Given the description of an element on the screen output the (x, y) to click on. 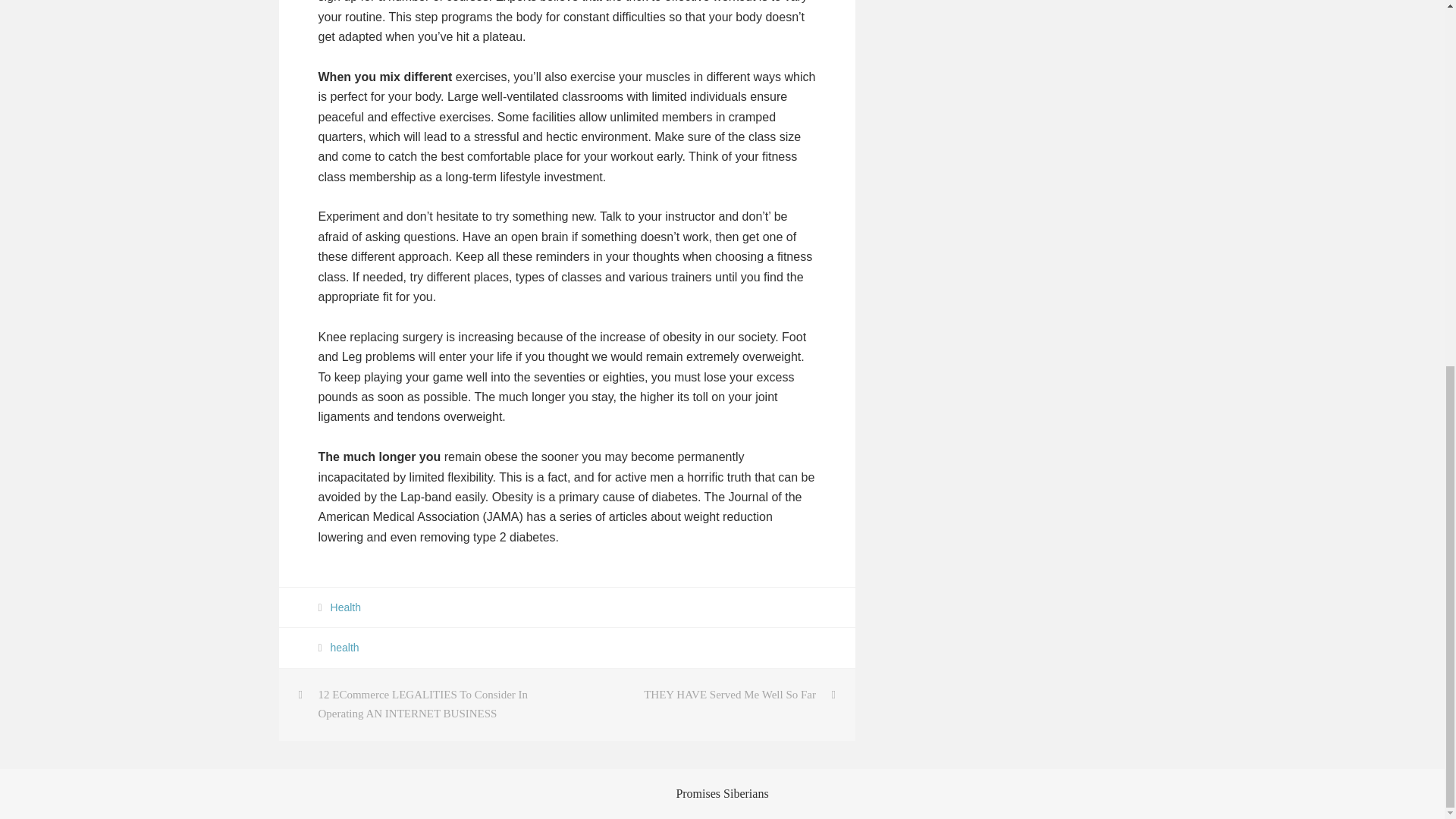
health (344, 647)
THEY HAVE Served Me Well So Far (711, 695)
Health (345, 607)
